Given the description of an element on the screen output the (x, y) to click on. 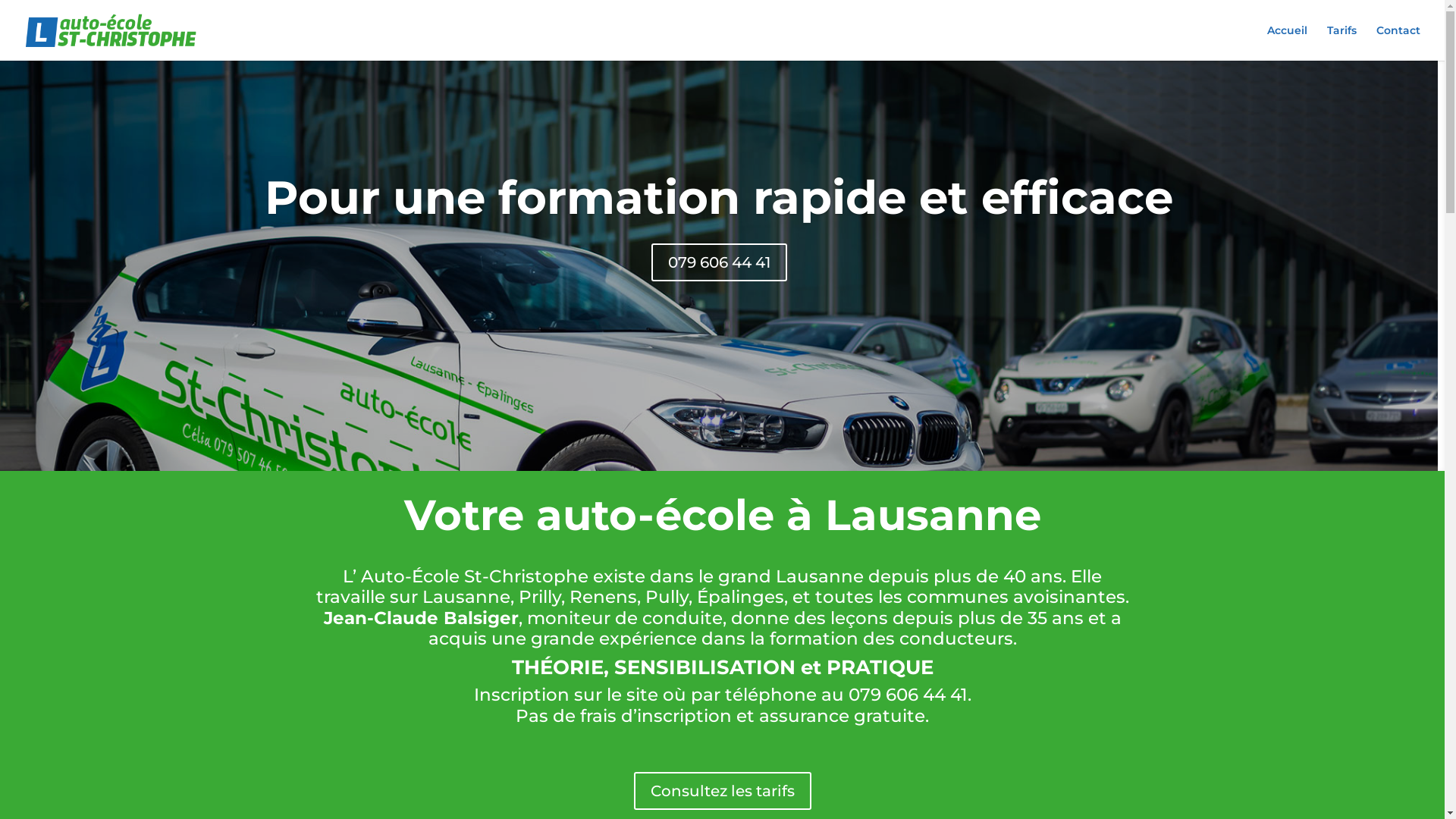
Accueil Element type: text (1287, 42)
079 606 44 41 Element type: text (718, 262)
Contact Element type: text (1398, 42)
Consultez les tarifs Element type: text (722, 790)
Pour une formation rapide et efficace Element type: text (718, 197)
Tarifs Element type: text (1341, 42)
